Given the description of an element on the screen output the (x, y) to click on. 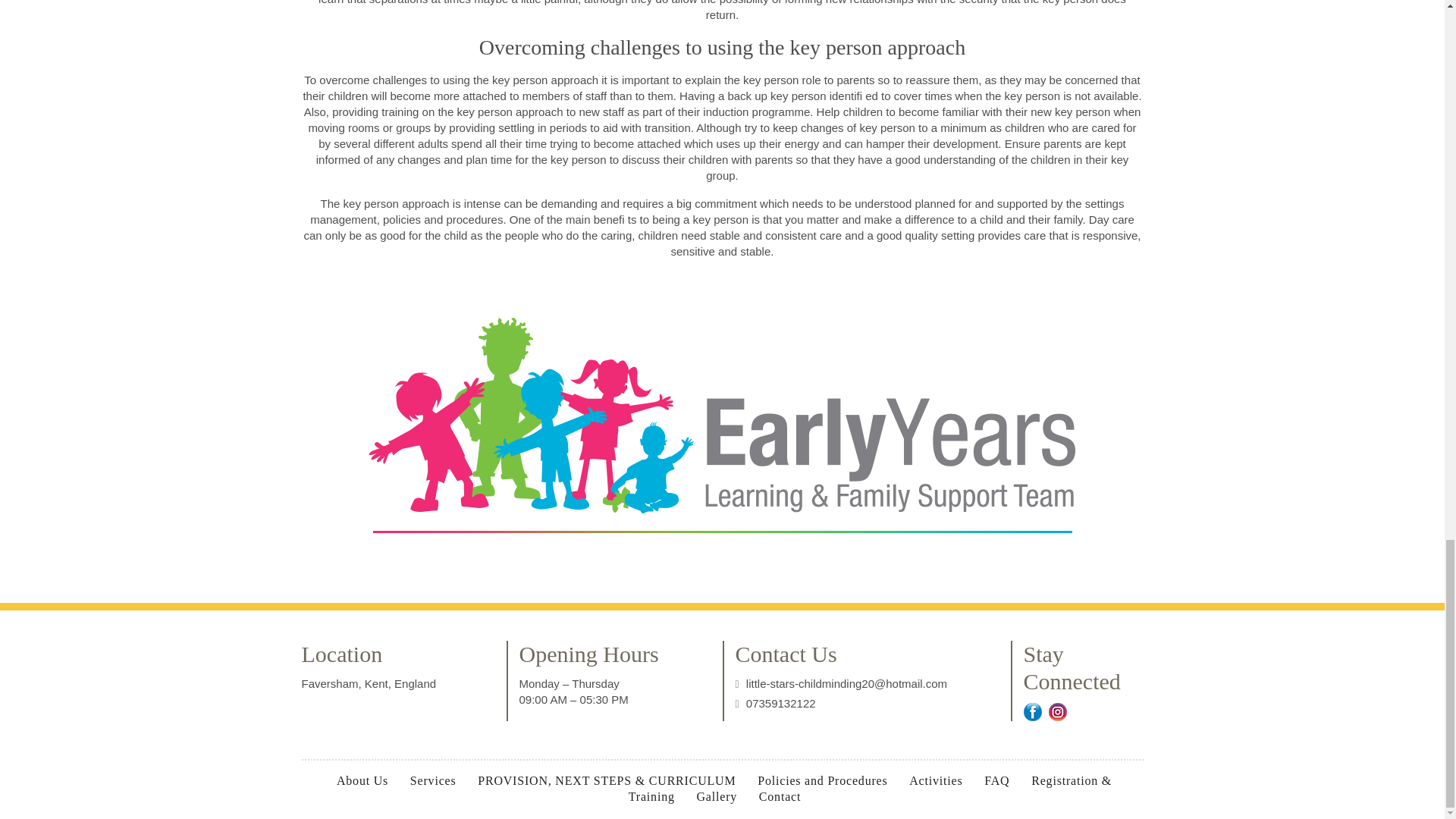
Services (432, 780)
Contact (779, 796)
About Us (362, 780)
Gallery (716, 796)
FAQ (997, 780)
Activities (934, 780)
07359132122 (780, 703)
Policies and Procedures (822, 780)
